Given the description of an element on the screen output the (x, y) to click on. 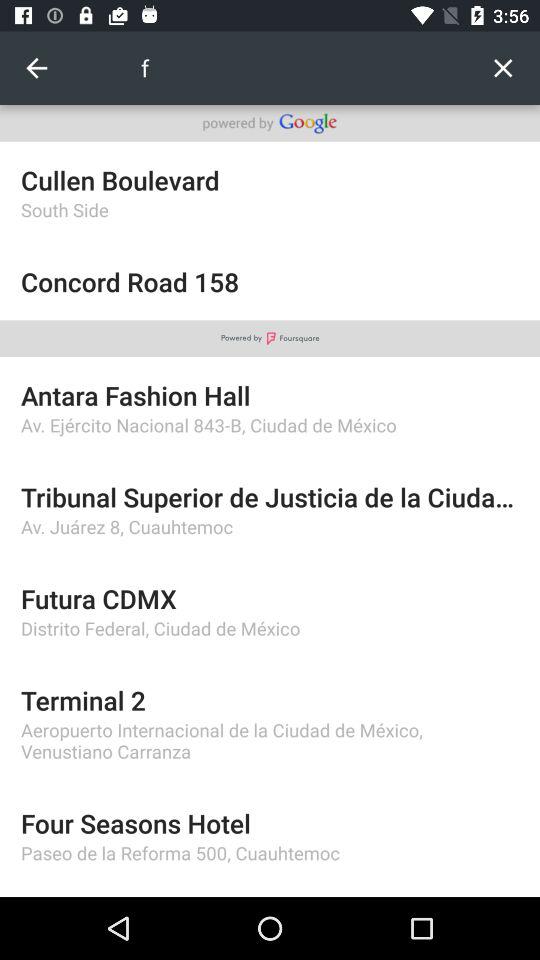
launch the item next to f item (502, 67)
